Given the description of an element on the screen output the (x, y) to click on. 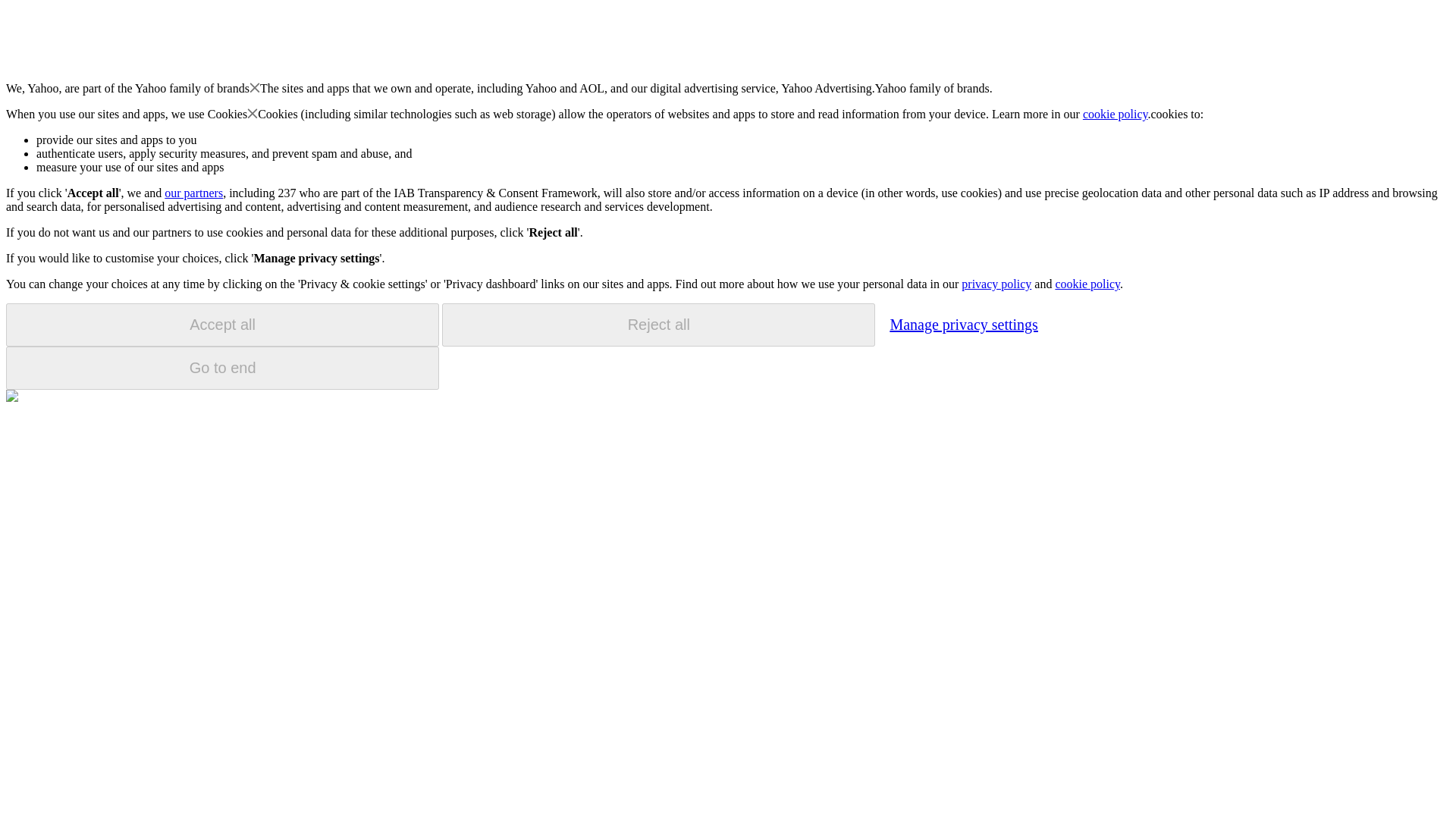
Go to end (222, 367)
our partners (193, 192)
Reject all (658, 324)
privacy policy (995, 283)
cookie policy (1086, 283)
cookie policy (1115, 113)
Accept all (222, 324)
Manage privacy settings (963, 323)
